Given the description of an element on the screen output the (x, y) to click on. 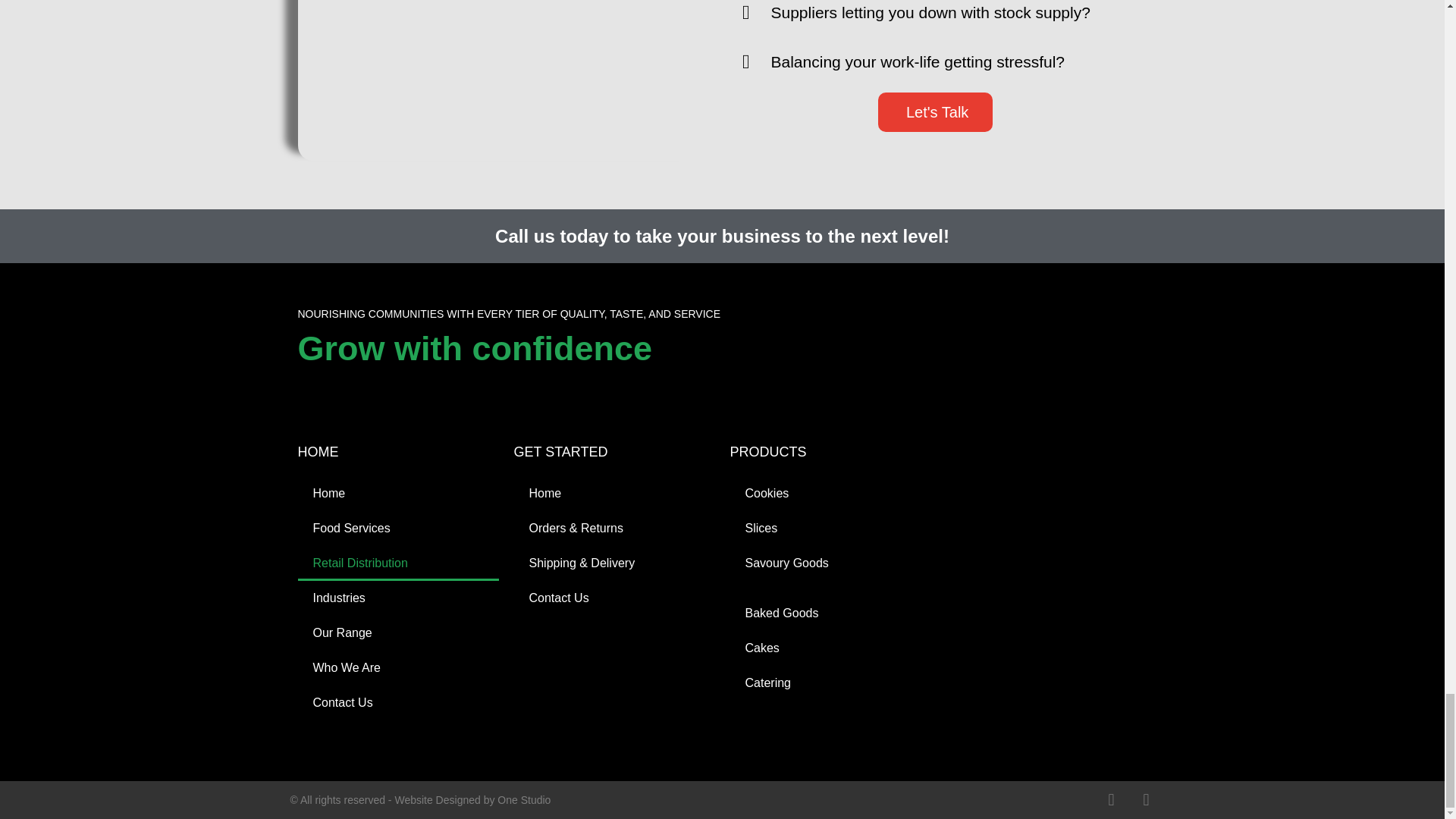
Industries (397, 597)
Home (397, 493)
Food Services (397, 528)
Who We Are (397, 667)
Retail Distribution (397, 563)
Let's Talk (934, 111)
Our Range (397, 632)
